Given the description of an element on the screen output the (x, y) to click on. 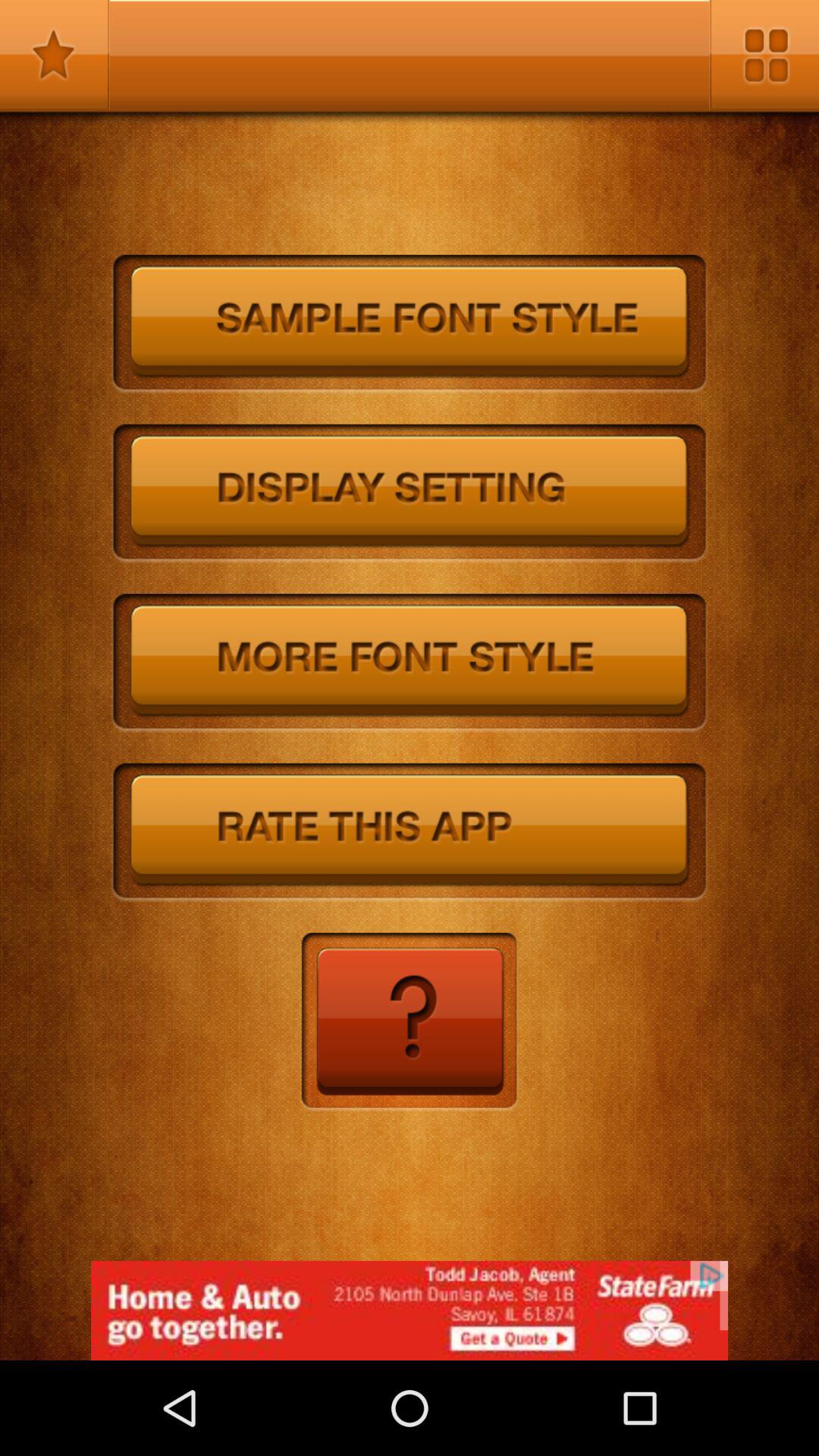
displaysetting (409, 493)
